Given the description of an element on the screen output the (x, y) to click on. 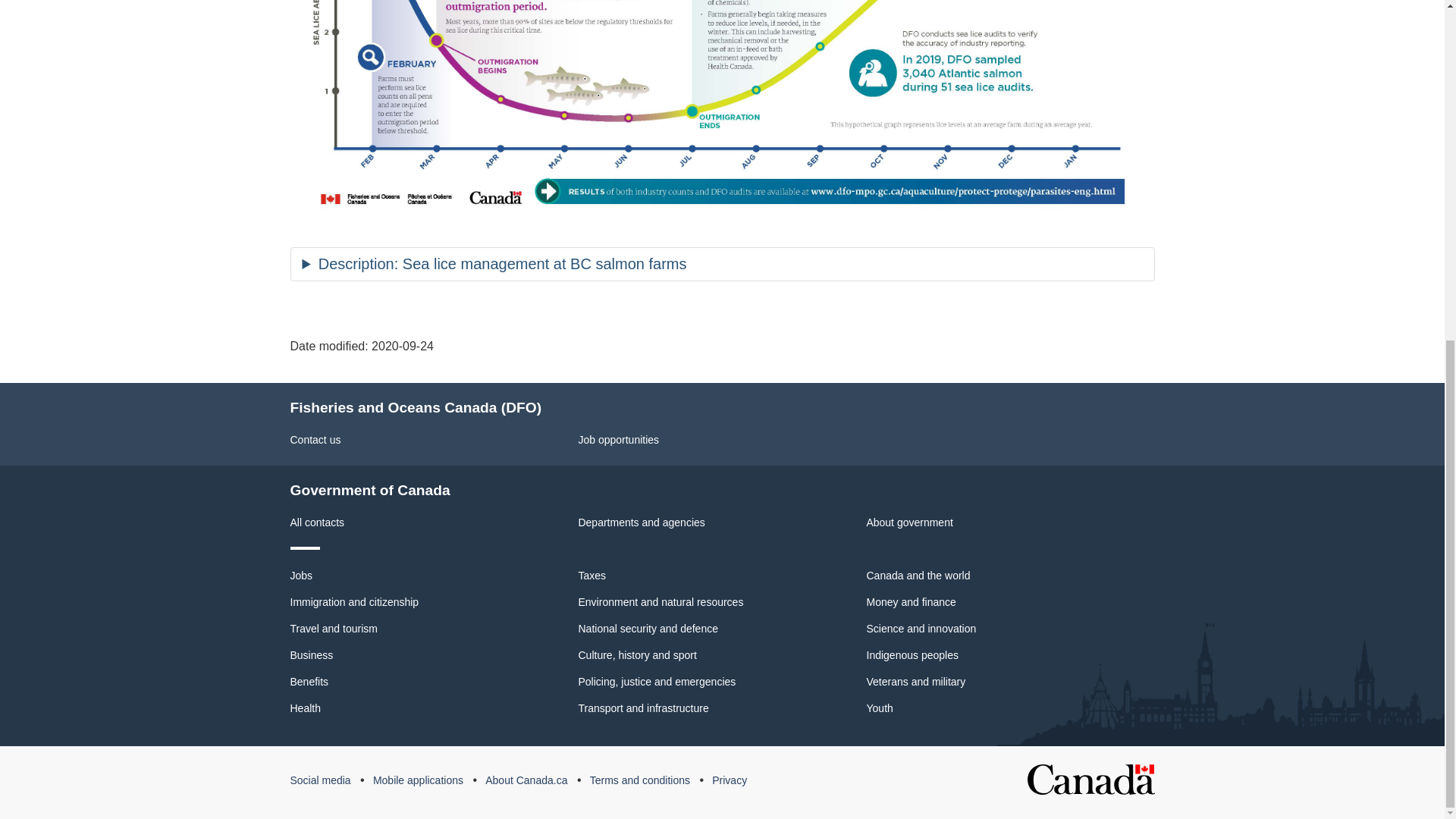
Benefits (309, 681)
All contacts (316, 522)
Jobs (301, 575)
Job opportunities (618, 439)
Departments and agencies (641, 522)
About government (909, 522)
Immigration and citizenship (354, 602)
Contact us (314, 439)
Health (304, 707)
Taxes (591, 575)
